Given the description of an element on the screen output the (x, y) to click on. 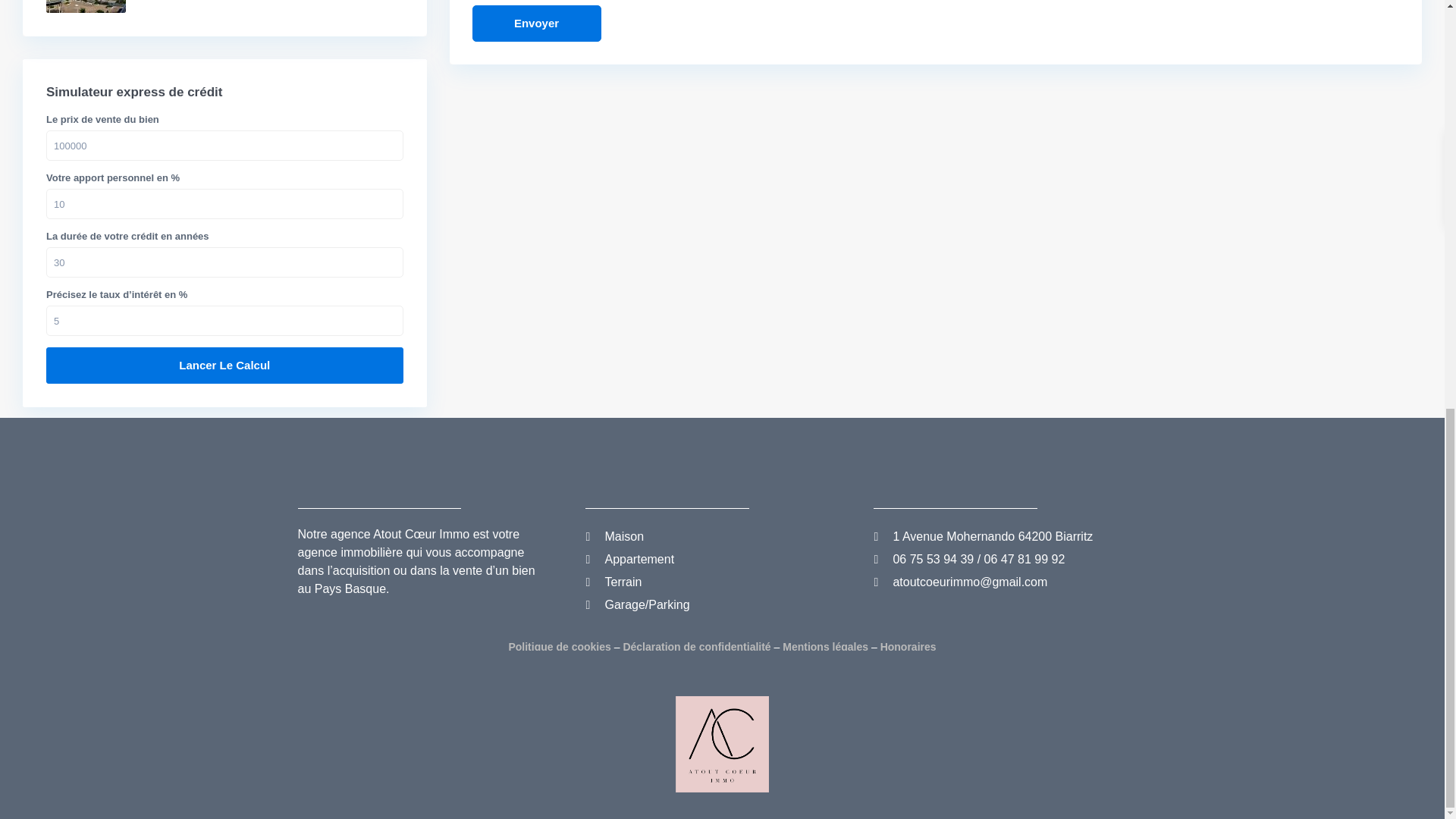
Envoyer (535, 22)
Honoraires (908, 646)
30 (224, 262)
Lancer Le Calcul (224, 365)
5 (224, 320)
10 (224, 204)
100000 (224, 145)
Envoyer (535, 22)
Politique de cookies (559, 646)
